Given the description of an element on the screen output the (x, y) to click on. 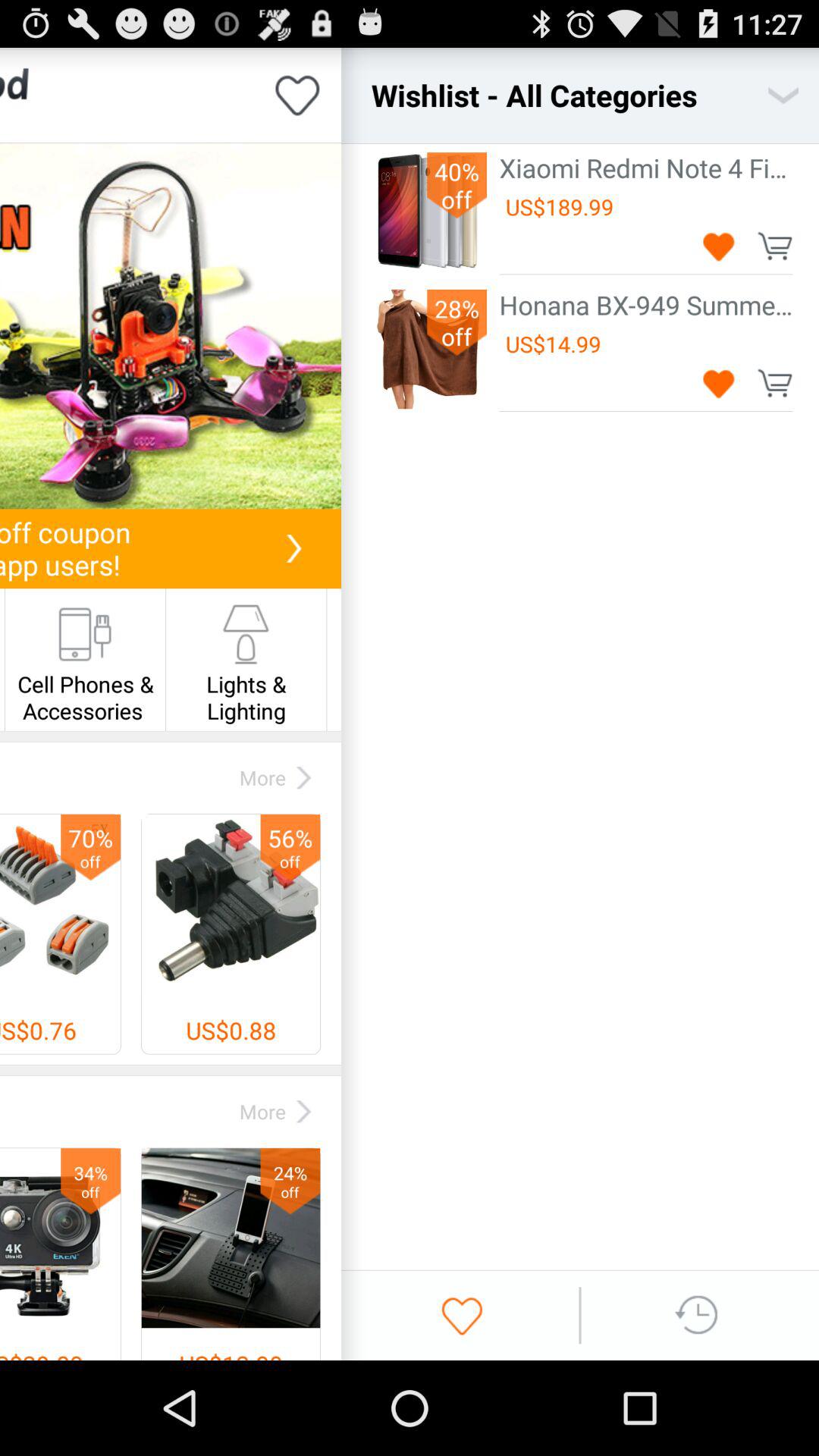
turn off the icon above us$14.99 item (645, 304)
